Given the description of an element on the screen output the (x, y) to click on. 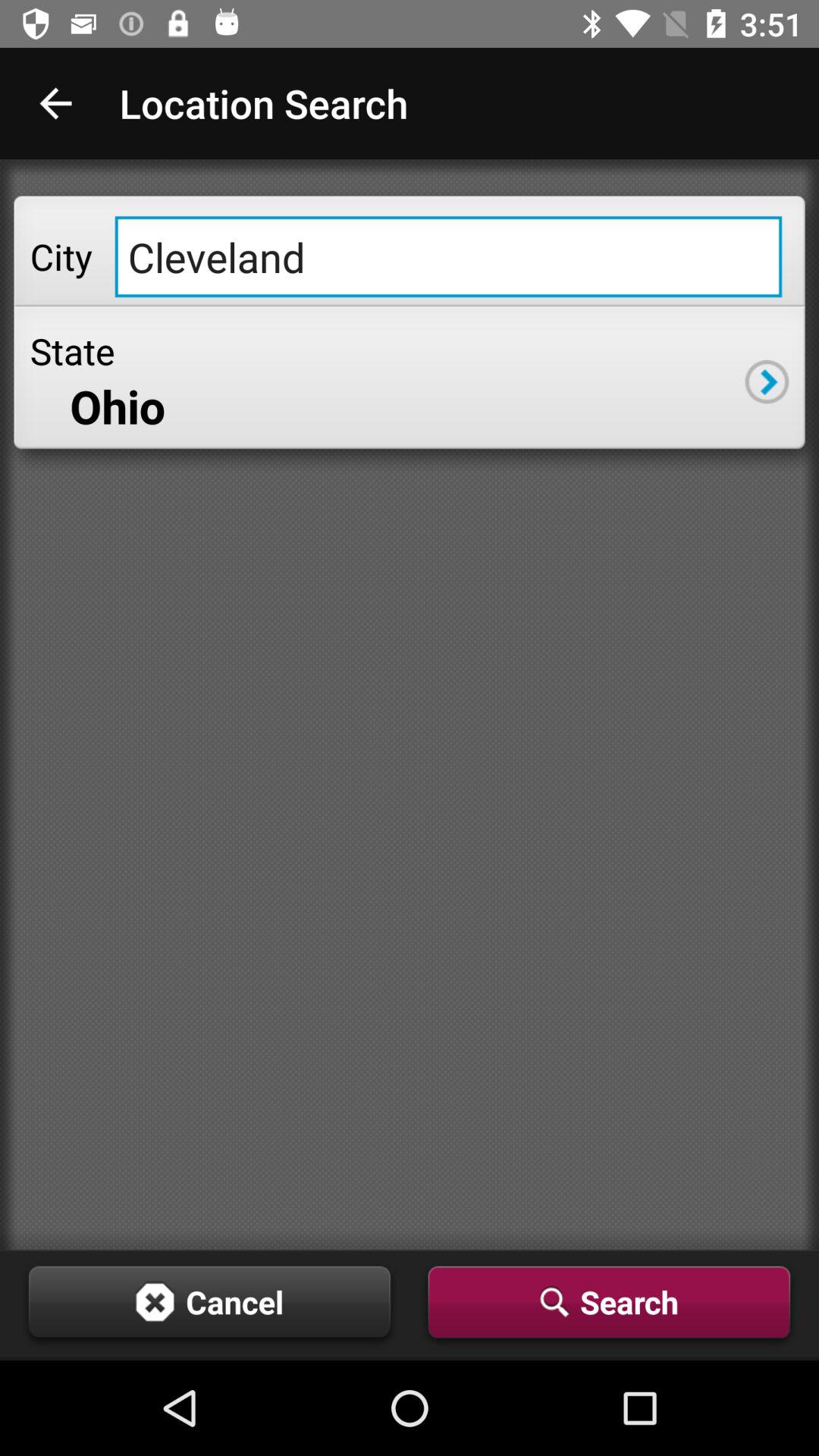
choose icon next to the location search app (55, 103)
